Given the description of an element on the screen output the (x, y) to click on. 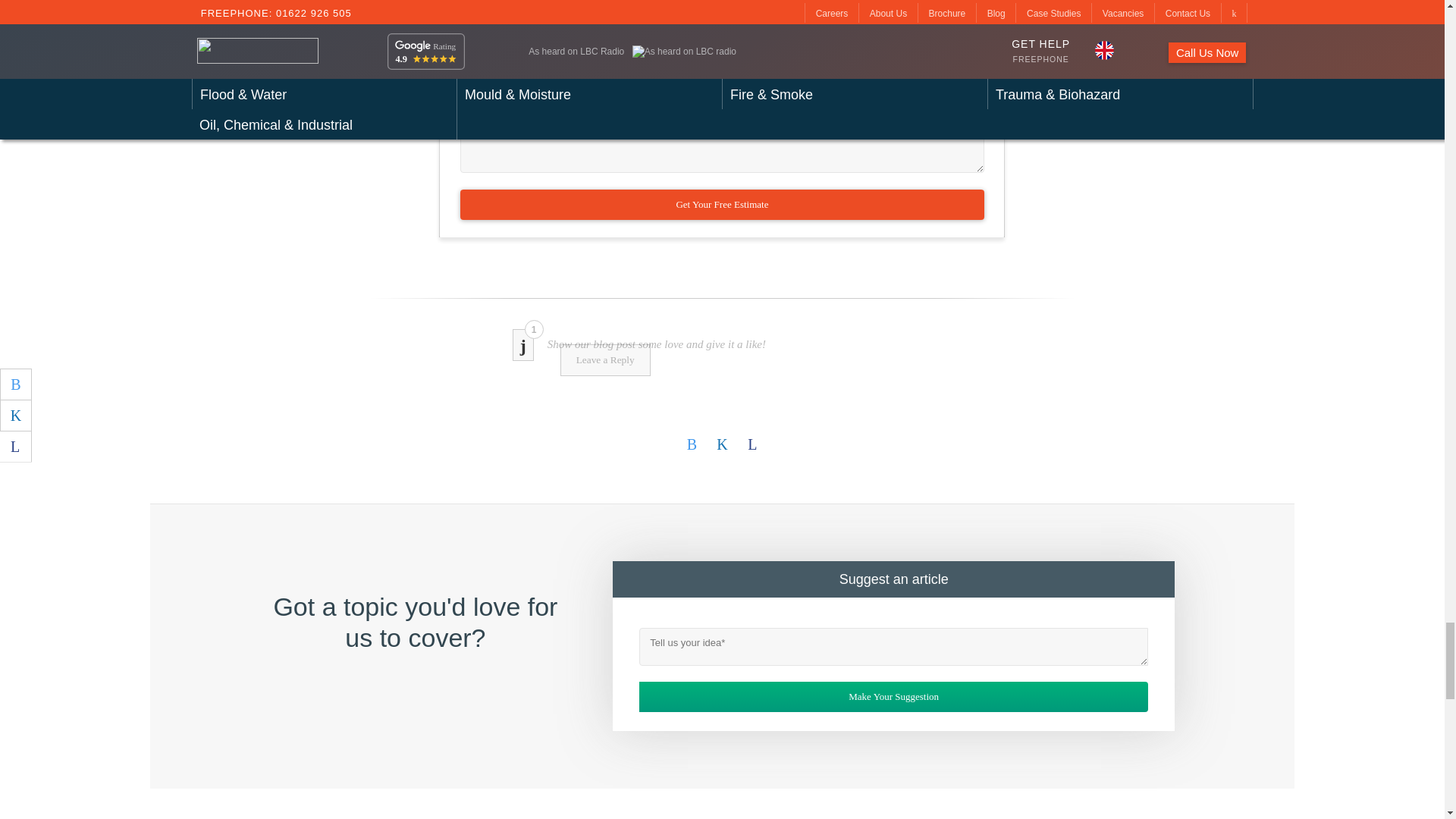
Make Your Suggestion (893, 696)
View Ideal Response on Twitter (691, 444)
View Ideal Response on LinkedIn (721, 444)
View Ideal Response on Facebook (751, 444)
Get Your Free Estimate (722, 204)
